Given the description of an element on the screen output the (x, y) to click on. 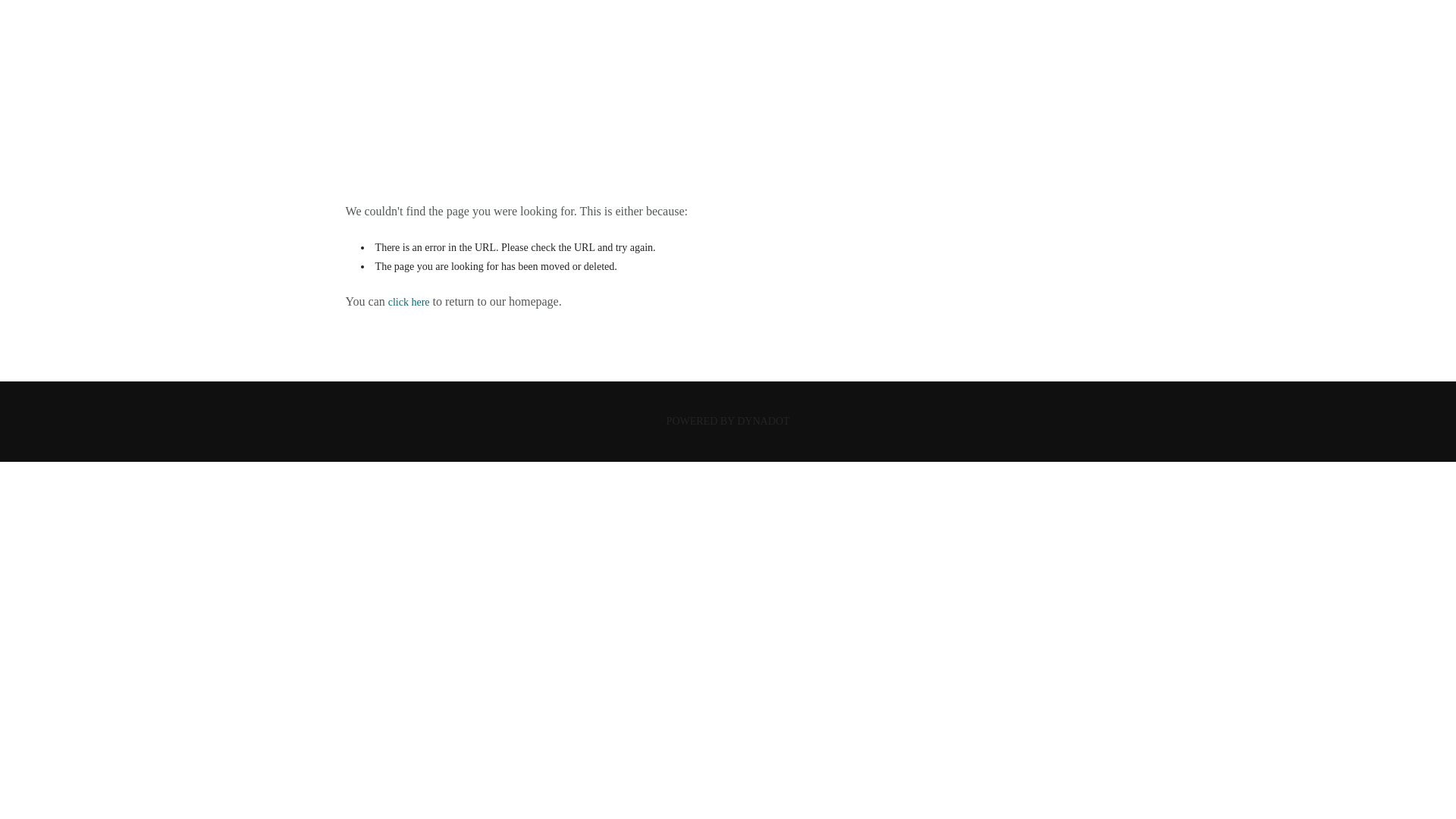
POWERED BY DYNADOT (728, 420)
click here (408, 301)
JOURNEY (727, 48)
HOME (727, 103)
